Given the description of an element on the screen output the (x, y) to click on. 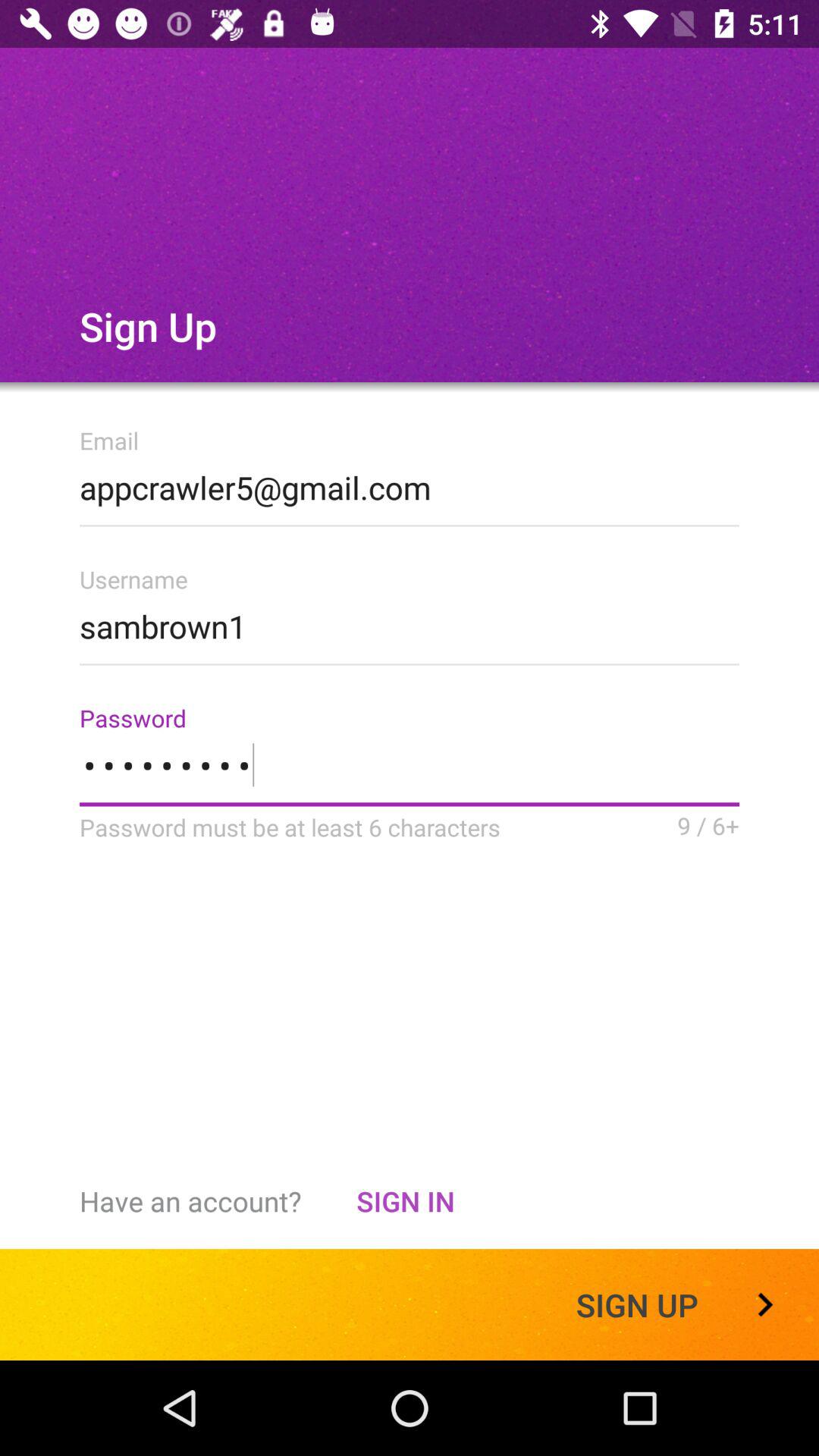
turn on the appcrawler5@gmail.com icon (409, 482)
